Given the description of an element on the screen output the (x, y) to click on. 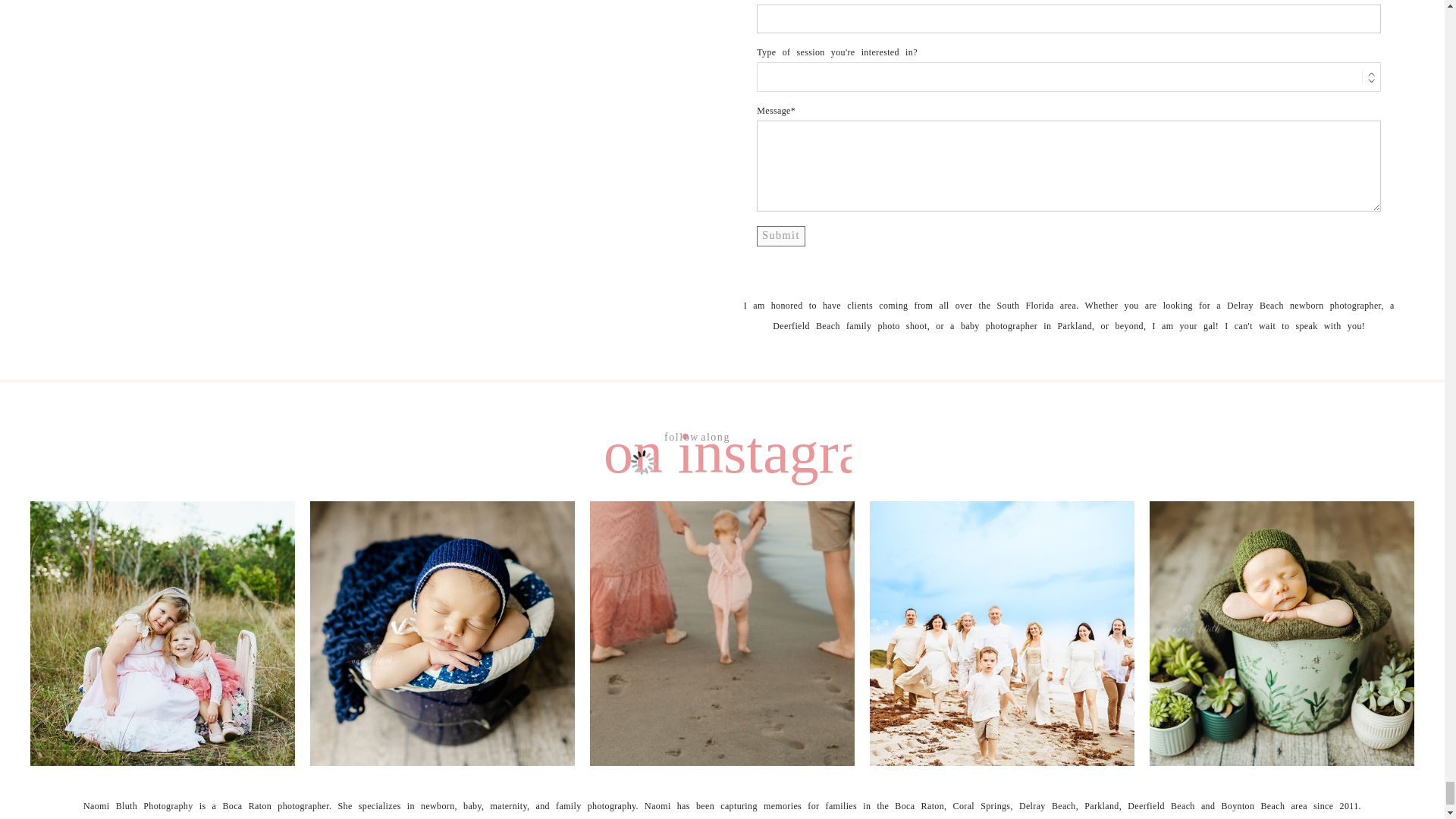
Submit (781, 235)
